Given the description of an element on the screen output the (x, y) to click on. 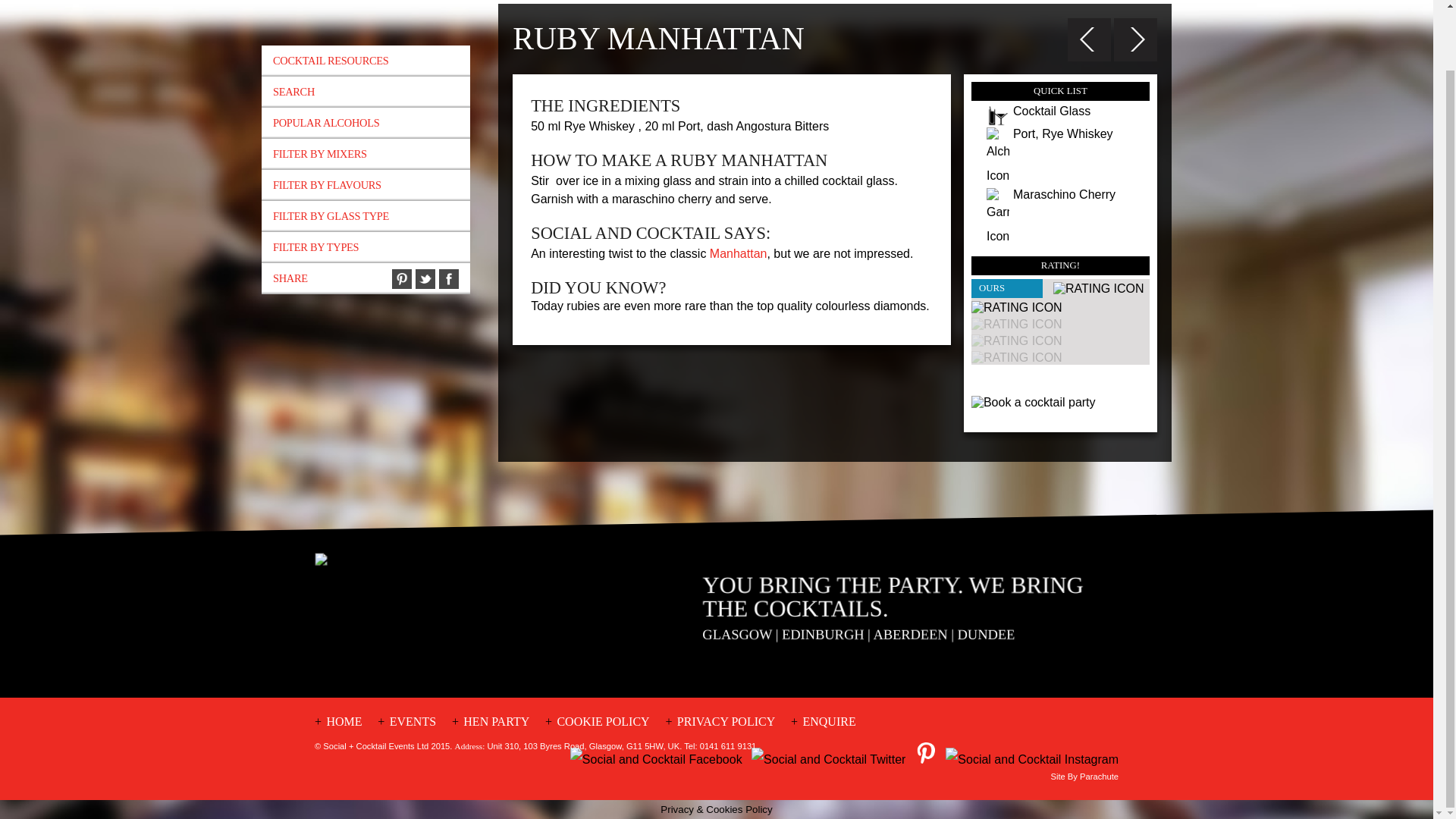
Book a cocktail party (1060, 402)
rating (1016, 357)
Manhattan (738, 253)
rating (1016, 307)
rating (1016, 341)
Ruby Martini (1088, 41)
previous post (1088, 39)
rating (1098, 288)
Royal Arrival (1135, 41)
next post (1135, 39)
